Given the description of an element on the screen output the (x, y) to click on. 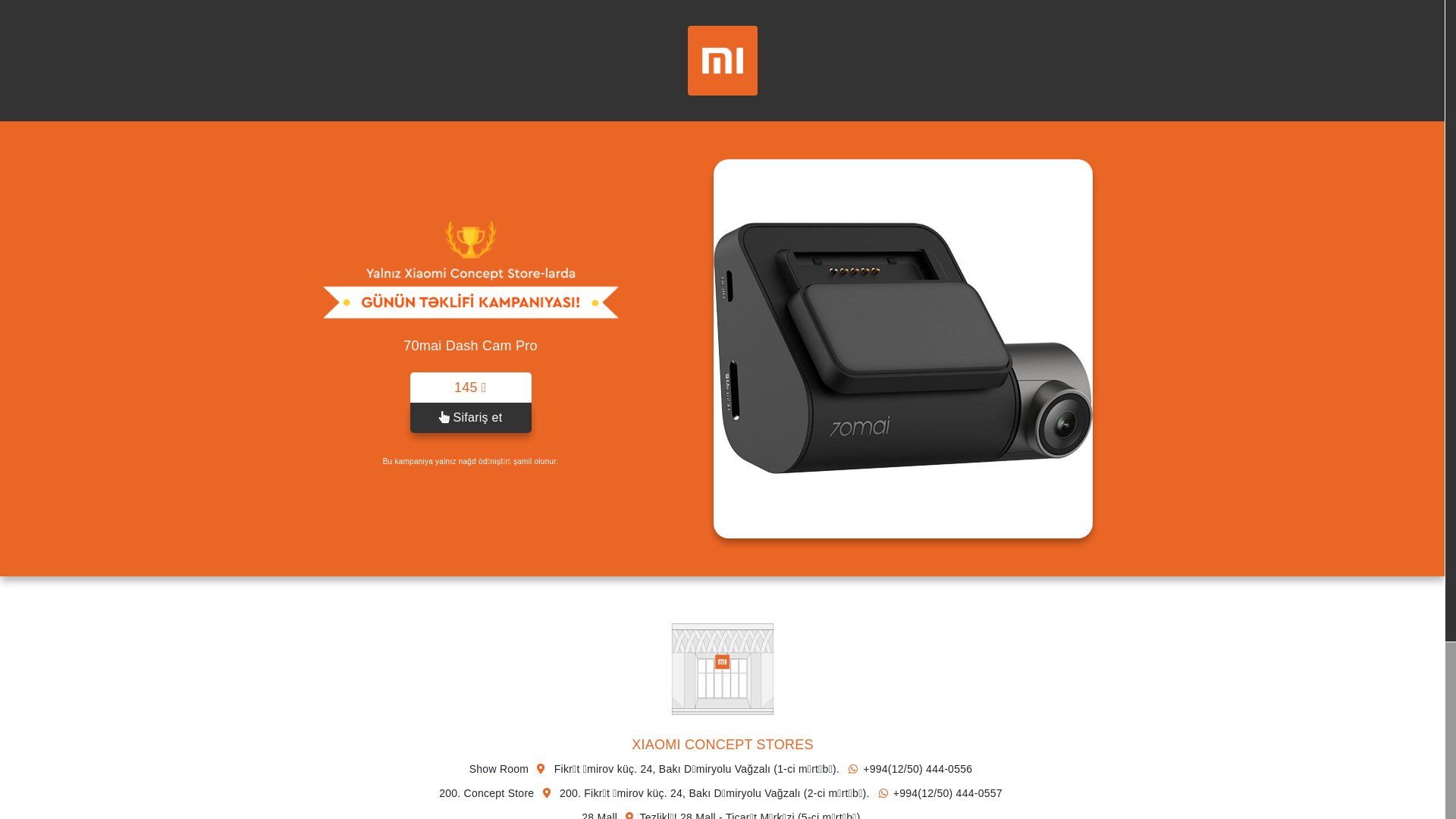
+994(12/50) 444-0556 Element type: text (907, 769)
+994(12/50) 444-0557 Element type: text (937, 793)
